Given the description of an element on the screen output the (x, y) to click on. 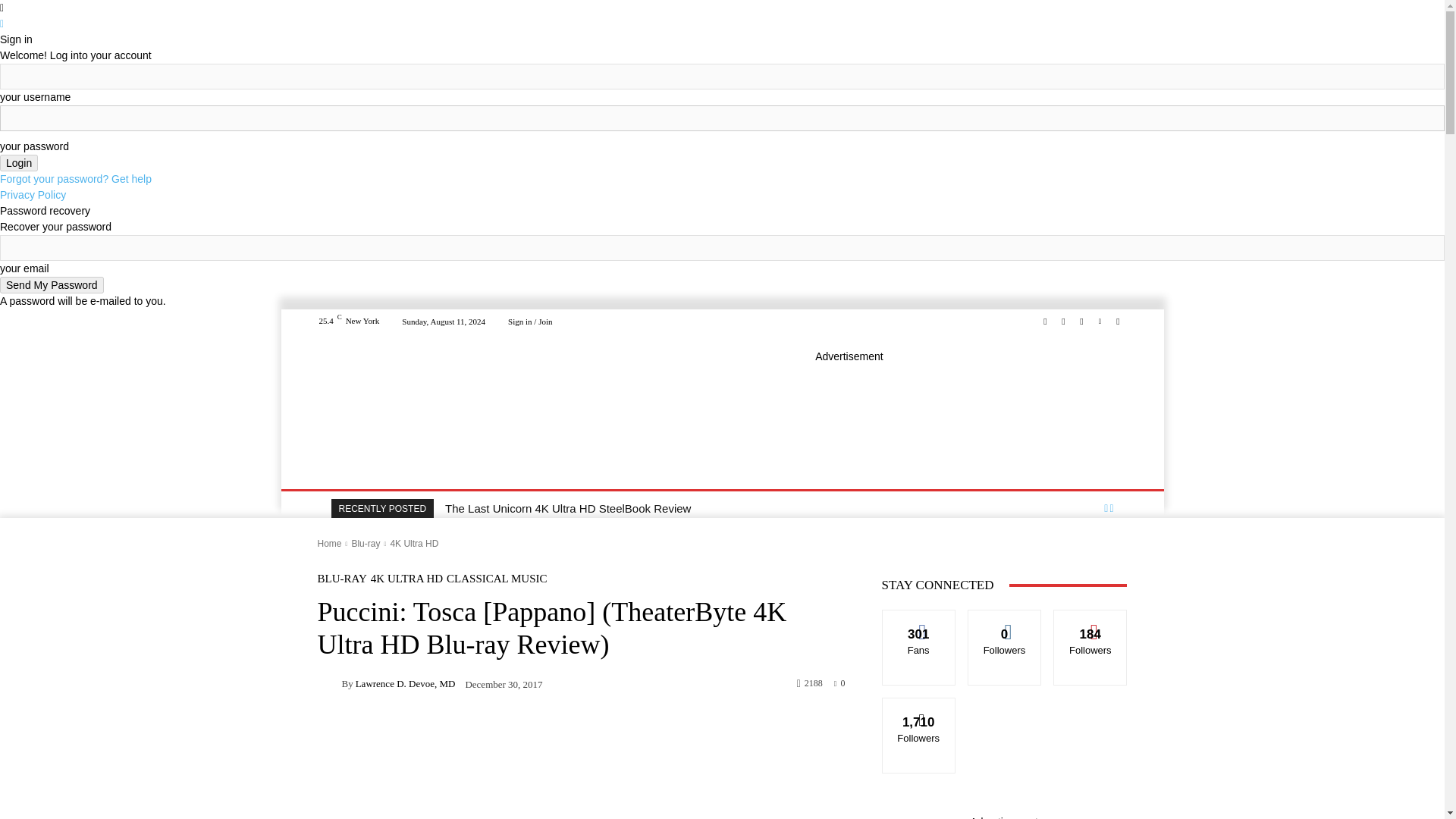
The Last Unicorn 4K Ultra HD SteelBook Review (567, 508)
Facebook (1044, 321)
Instagram (1062, 321)
Login (18, 162)
Twitter (1080, 321)
Send My Password (51, 284)
Vimeo (1099, 321)
Youtube (1117, 321)
